Given the description of an element on the screen output the (x, y) to click on. 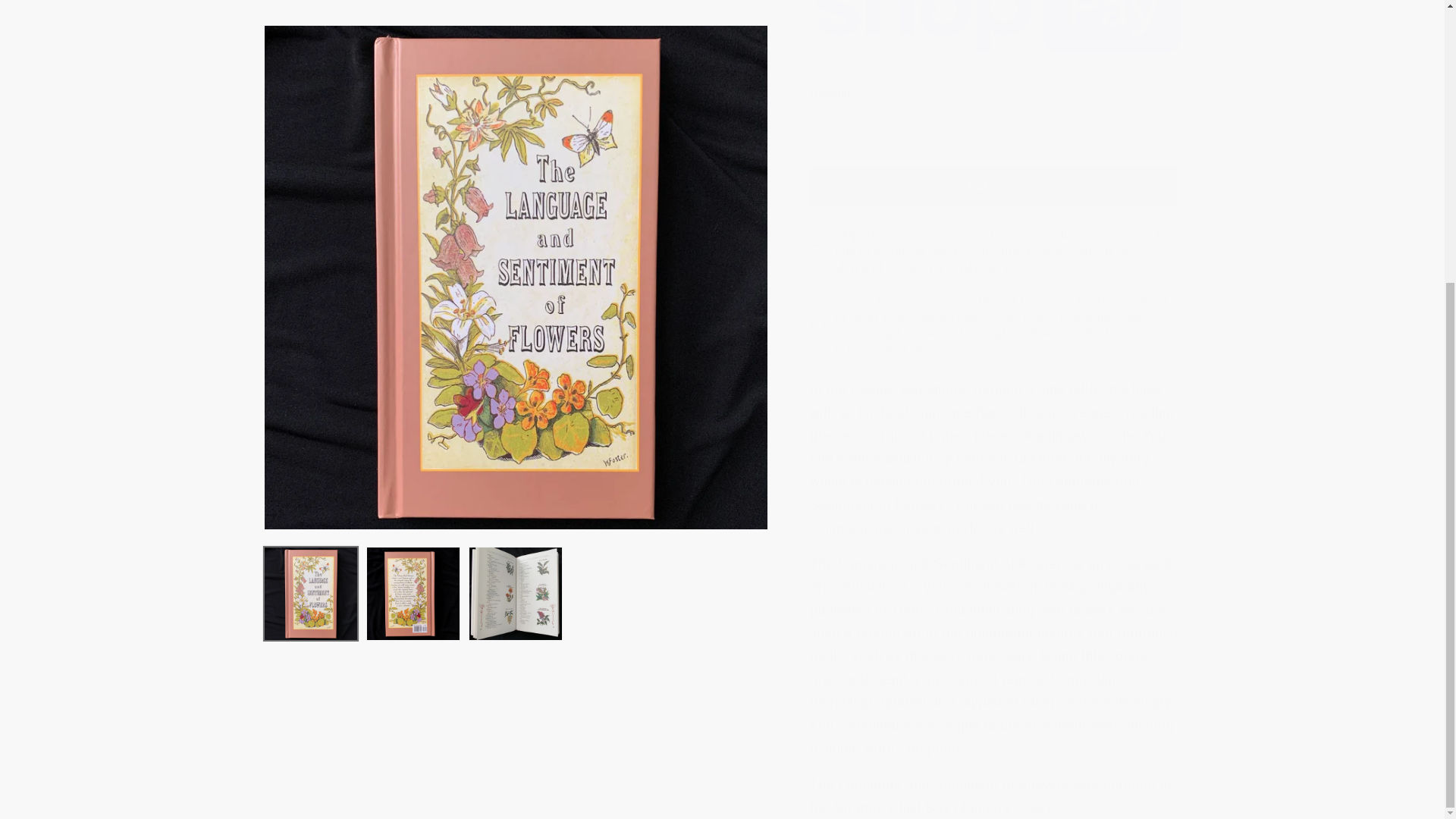
Open media 1 in modal (515, 110)
1 (863, 105)
Sold out (992, 165)
